Given the description of an element on the screen output the (x, y) to click on. 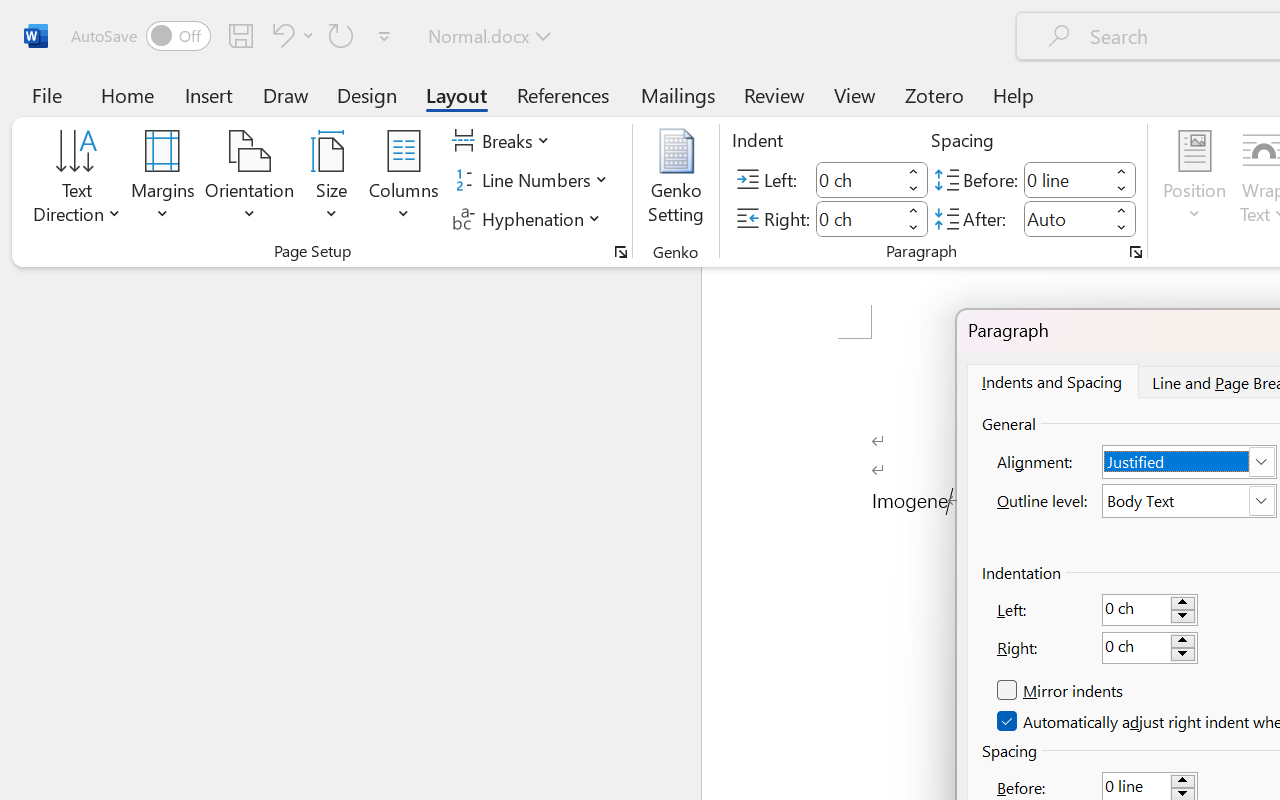
Spacing After (1066, 218)
Left: (1150, 609)
Indents and Spacing (1051, 381)
Help (1013, 94)
Indent Right (858, 218)
Undo Paragraph Formatting (280, 35)
More (1121, 210)
Orientation (250, 179)
